Given the description of an element on the screen output the (x, y) to click on. 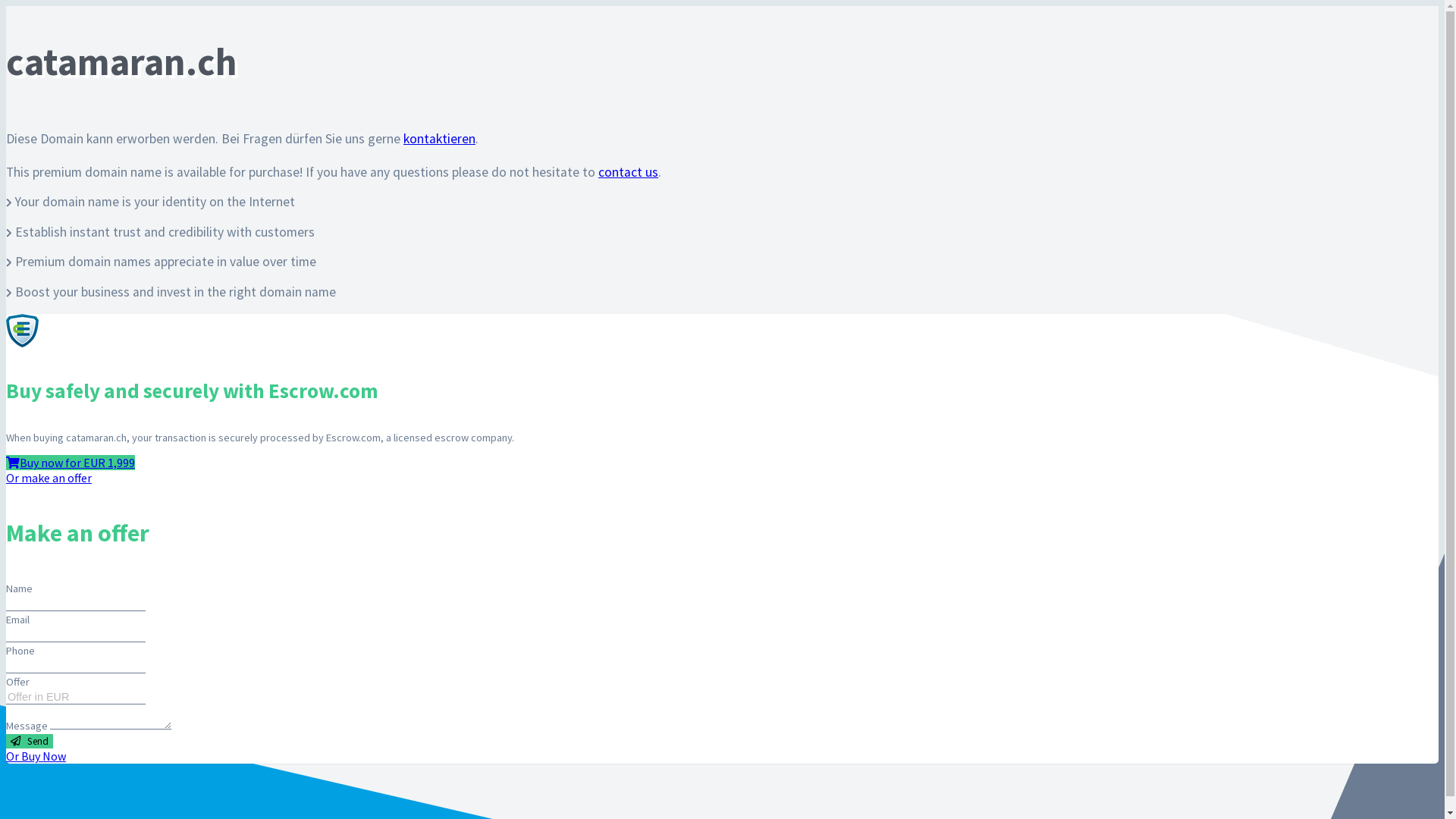
Or Buy Now Element type: text (35, 755)
Or make an offer Element type: text (48, 477)
kontaktieren Element type: text (439, 138)
Buy now for EUR 1,999 Element type: text (70, 462)
contact us Element type: text (628, 171)
